Given the description of an element on the screen output the (x, y) to click on. 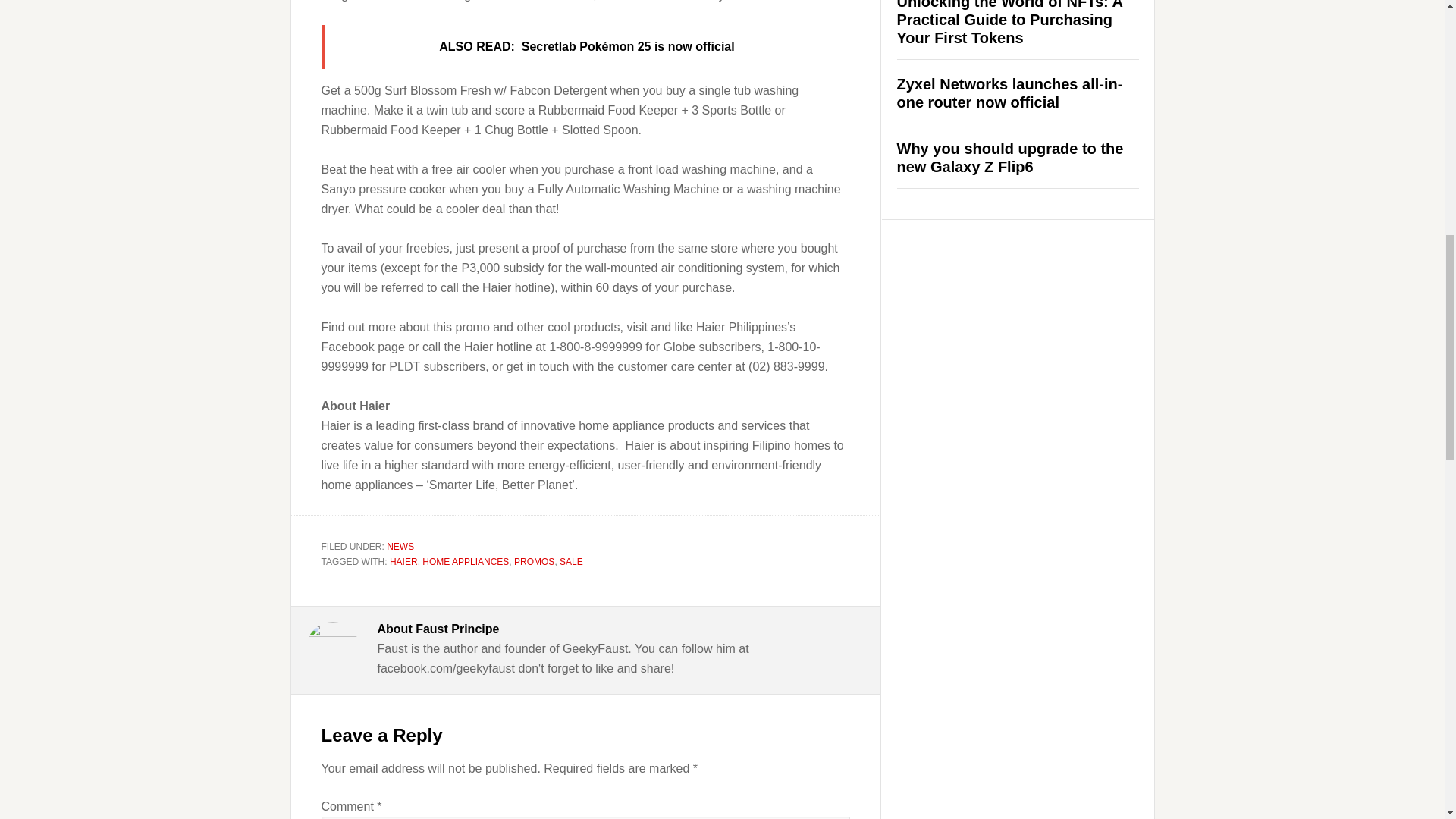
HAIER (403, 561)
SALE (571, 561)
PROMOS (533, 561)
Why you should upgrade to the new Galaxy Z Flip6 (1009, 157)
Zyxel Networks launches all-in-one router now official (1009, 93)
NEWS (400, 546)
HOME APPLIANCES (465, 561)
